Given the description of an element on the screen output the (x, y) to click on. 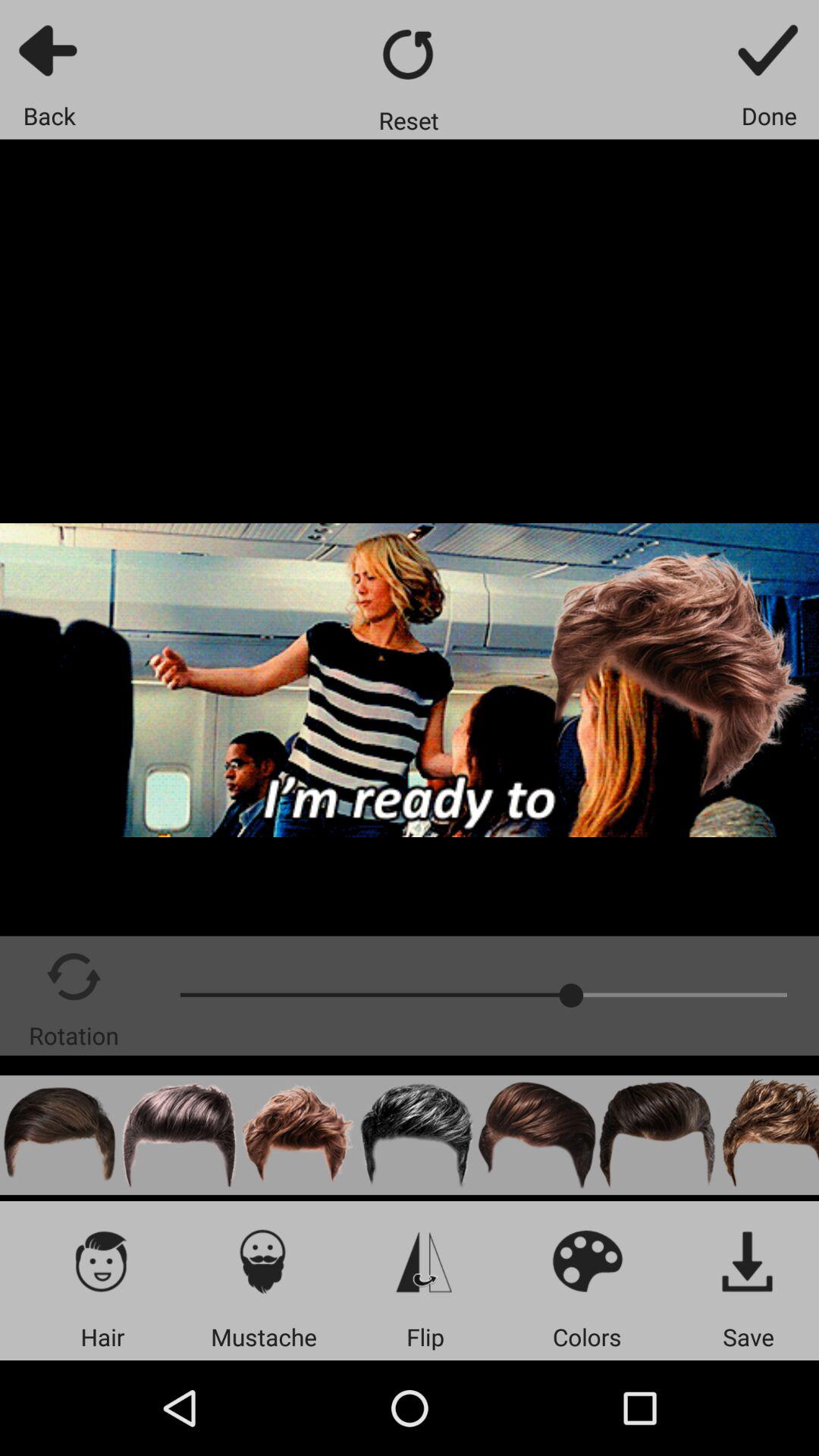
select this hairstyle (417, 1134)
